Given the description of an element on the screen output the (x, y) to click on. 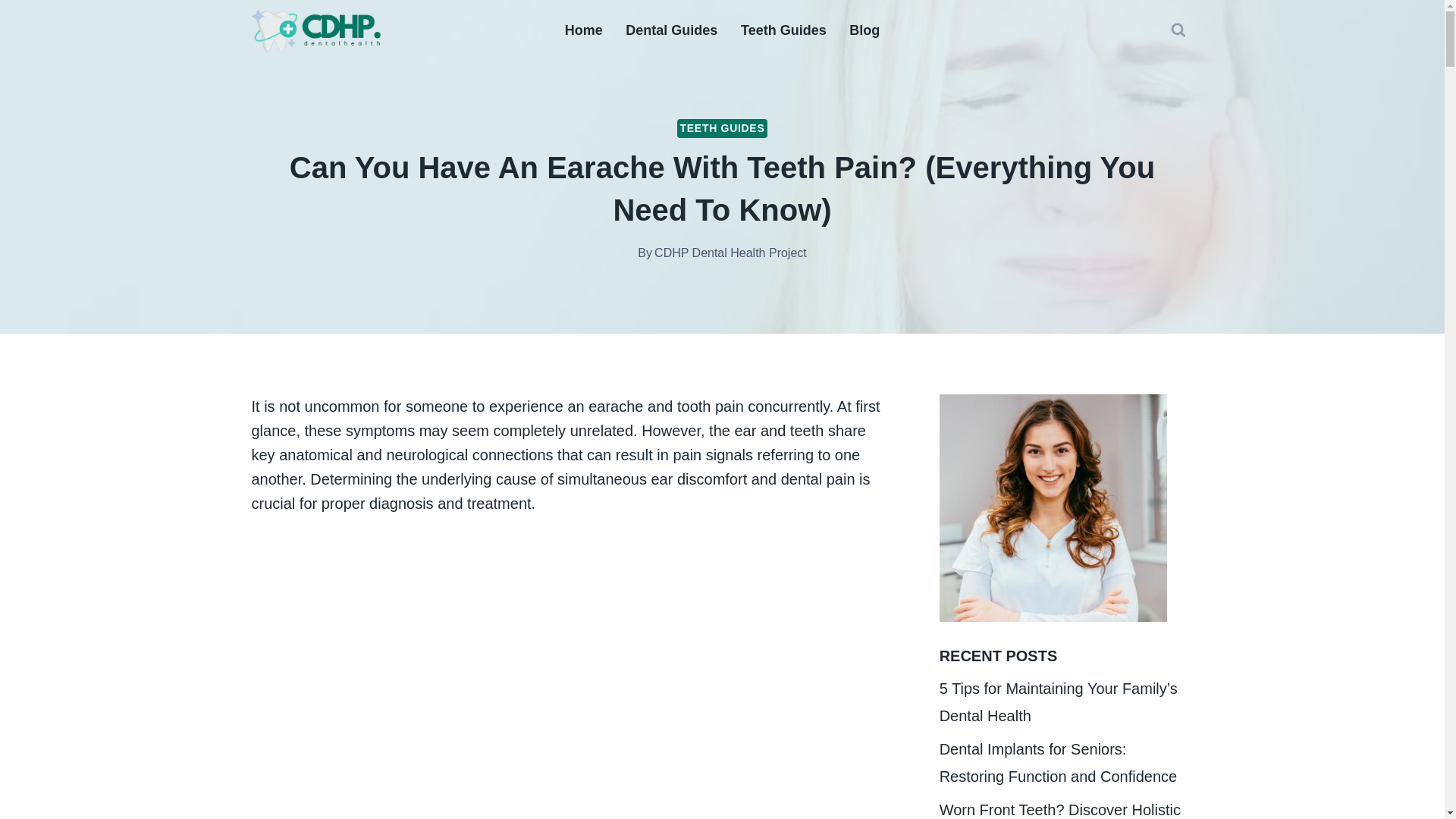
Dental Guides (671, 30)
TEETH GUIDES (722, 128)
Blog (864, 30)
Home (583, 30)
Teeth Guides (783, 30)
